Given the description of an element on the screen output the (x, y) to click on. 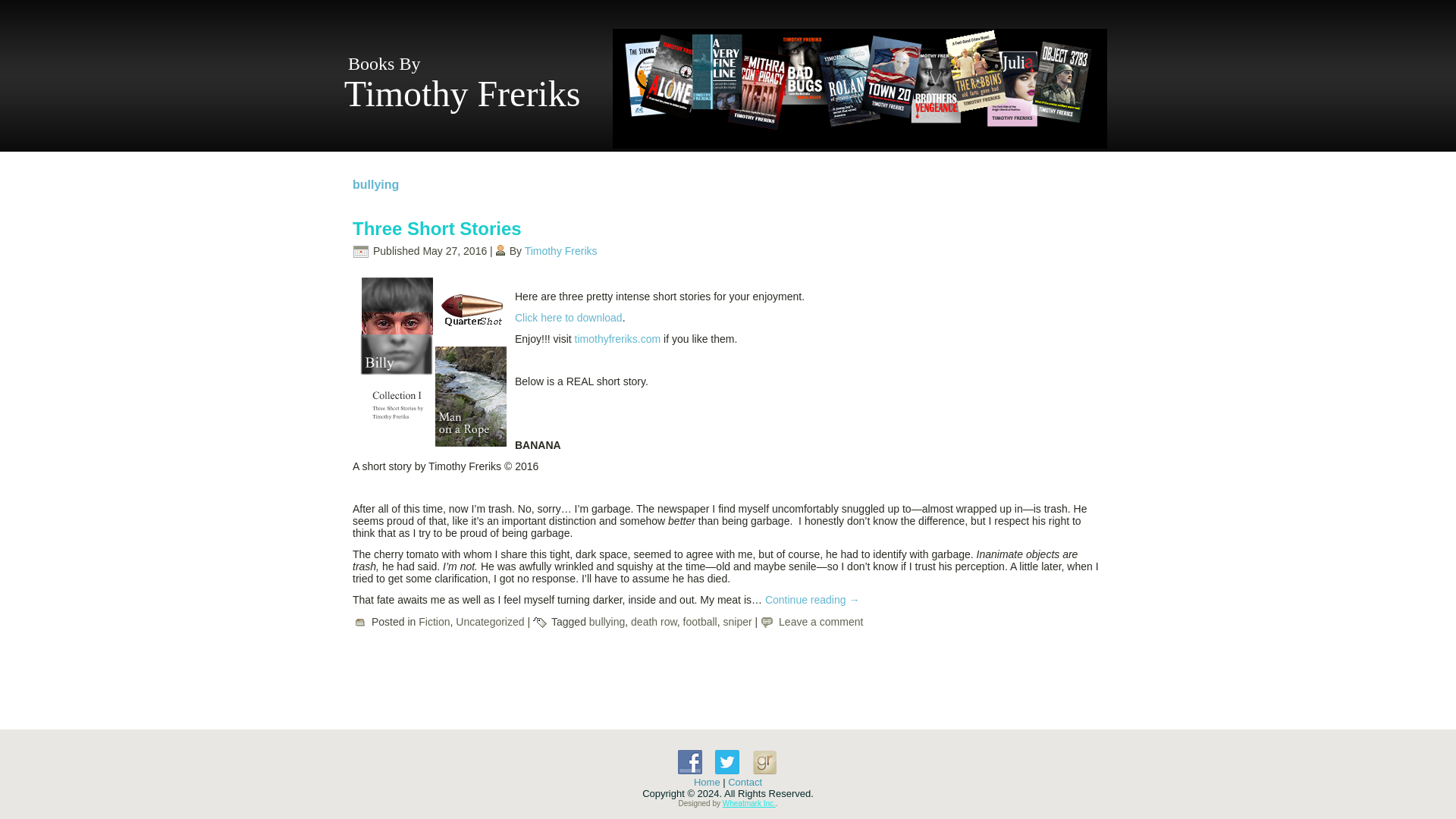
Three Short Stories (436, 228)
bullying (606, 621)
11:23 am (454, 250)
Home (707, 781)
Contact (744, 781)
Uncategorized (489, 621)
Three Short Stories (436, 228)
Click here to download (569, 317)
timothyfreriks.com (618, 338)
Wheatmark Inc. (749, 803)
